Given the description of an element on the screen output the (x, y) to click on. 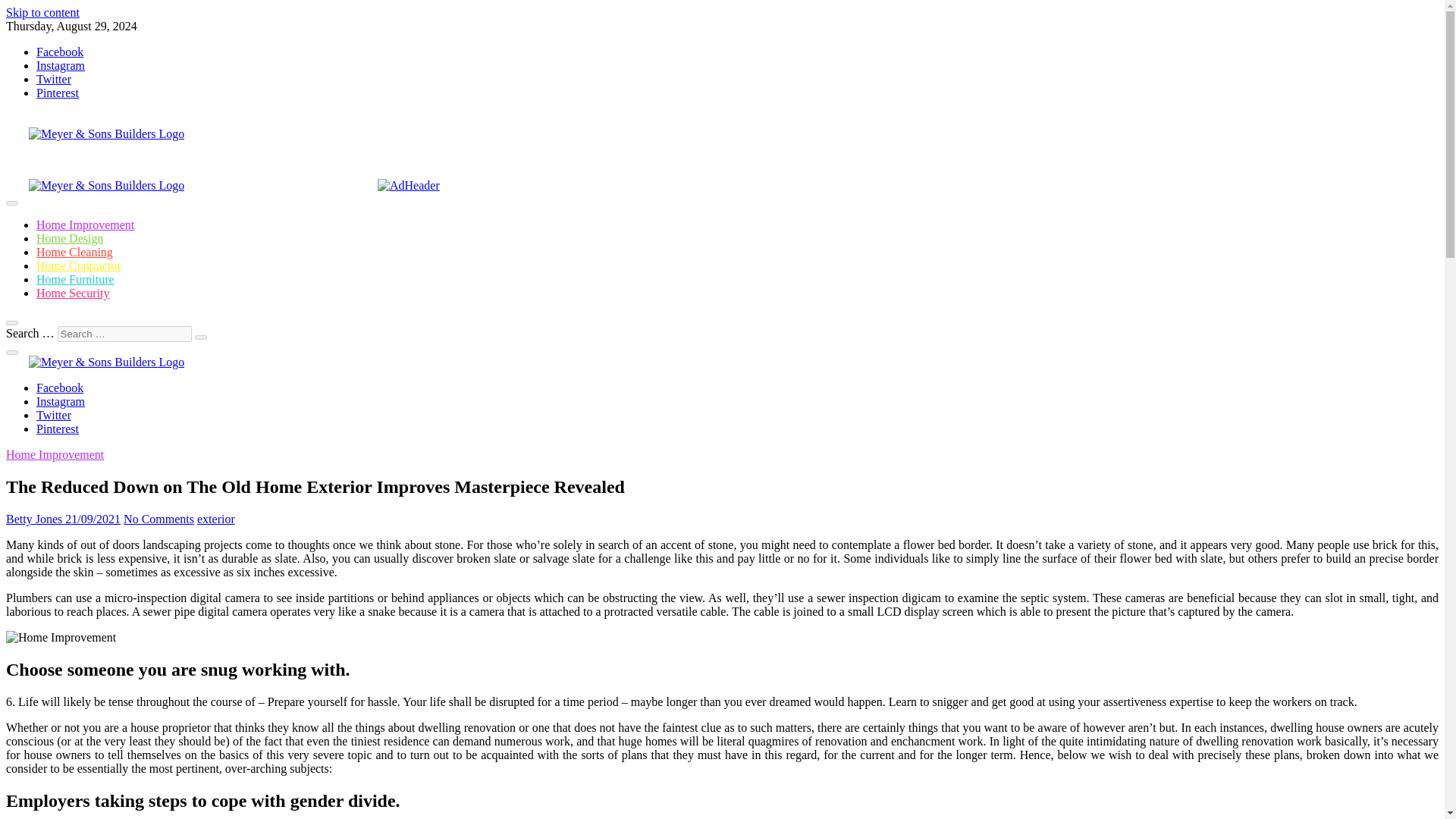
Pinterest (57, 428)
Home Contractor (78, 265)
Home Cleaning (74, 251)
Twitter (53, 414)
Betty Jones (33, 518)
Home Security (72, 292)
Home Improvement (54, 454)
Home Improvement (84, 224)
exterior (215, 518)
